Given the description of an element on the screen output the (x, y) to click on. 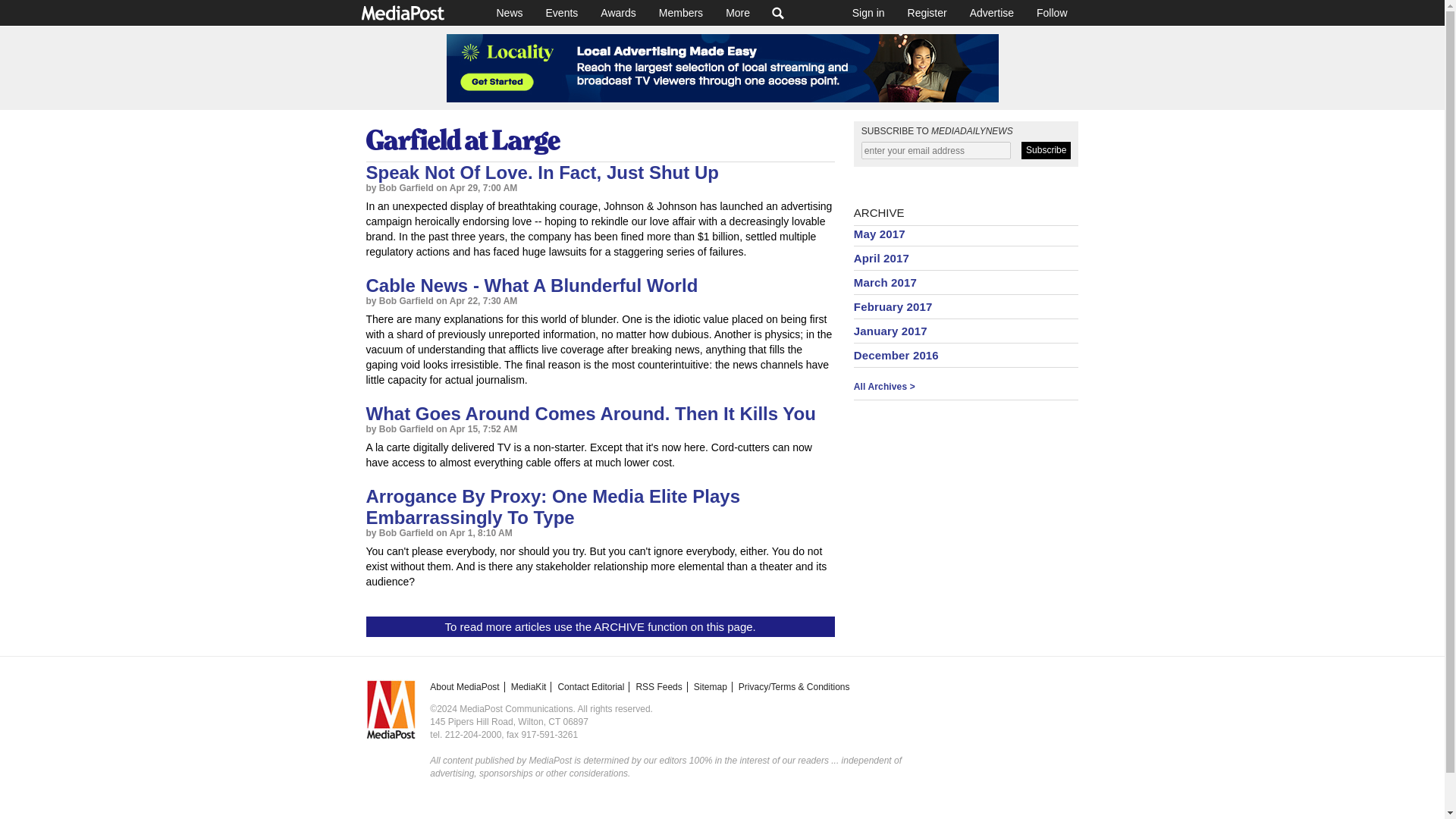
Subscribe (1046, 149)
News (509, 12)
